Given the description of an element on the screen output the (x, y) to click on. 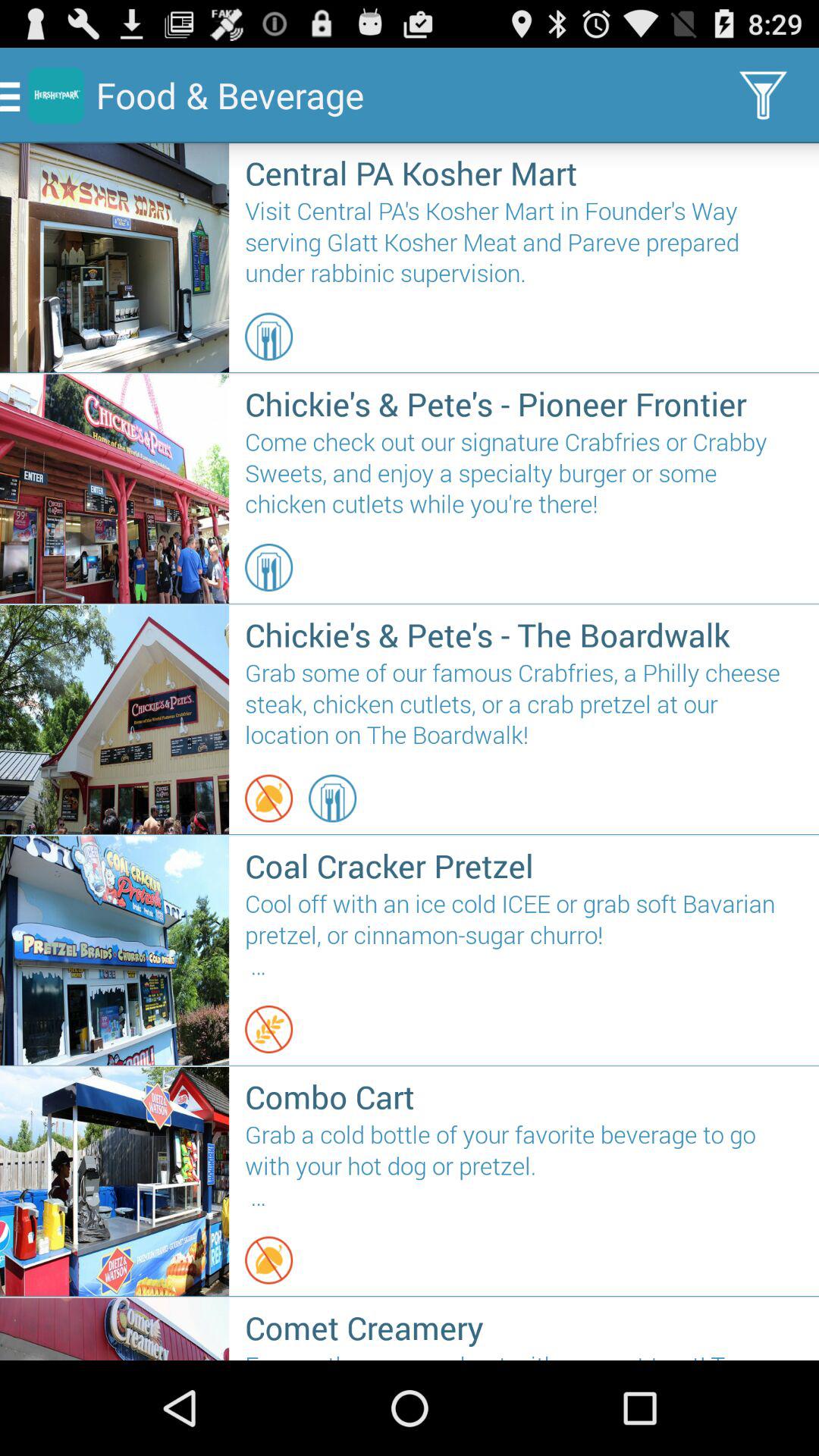
jump until cool off with (524, 936)
